Given the description of an element on the screen output the (x, y) to click on. 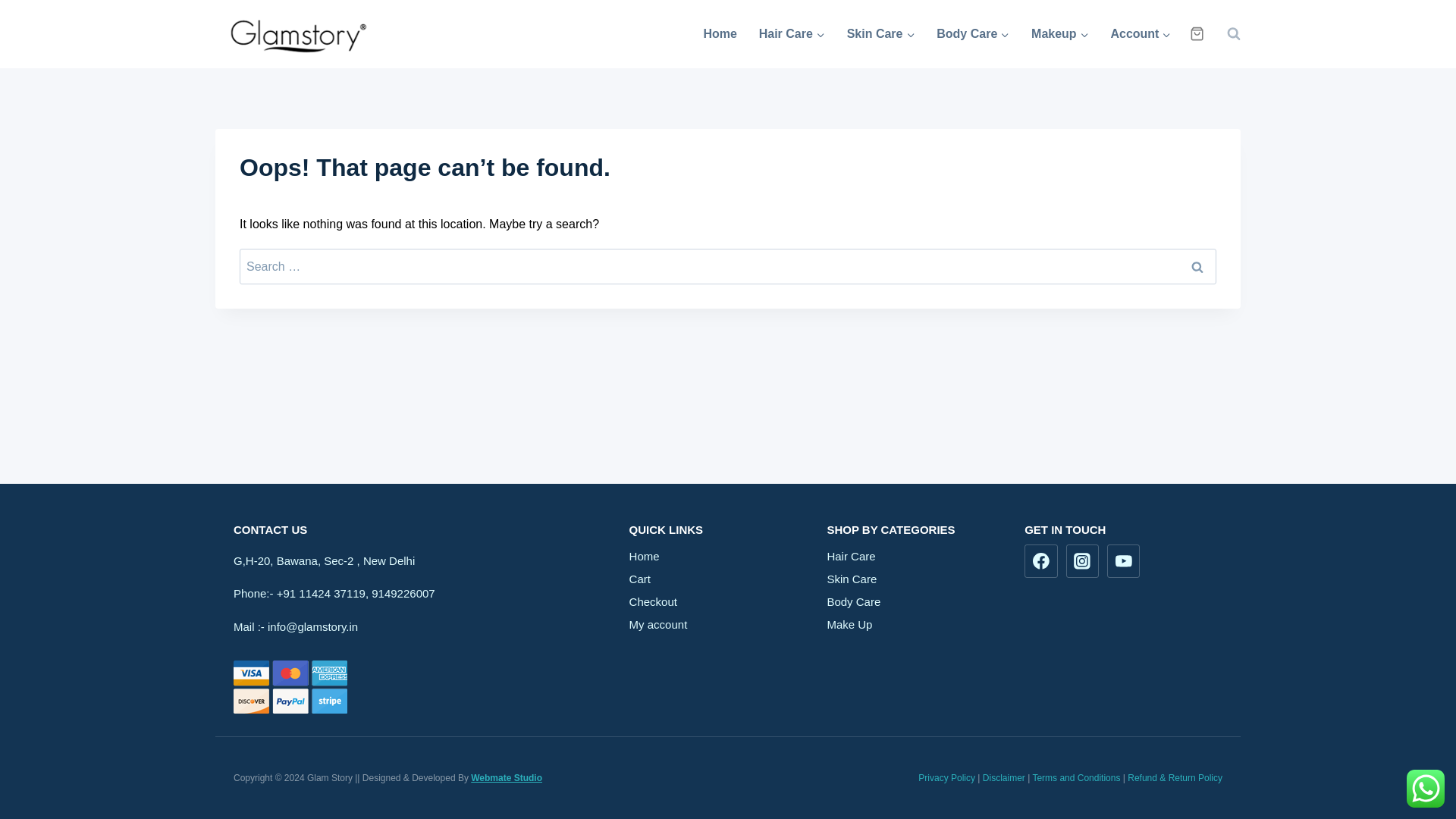
Makeup (1059, 33)
Search (1196, 266)
Skin Care (880, 33)
Search (1196, 266)
Home (720, 33)
Hair Care (791, 33)
Account (1140, 33)
My account (727, 623)
Cart (727, 578)
Home (727, 555)
